Given the description of an element on the screen output the (x, y) to click on. 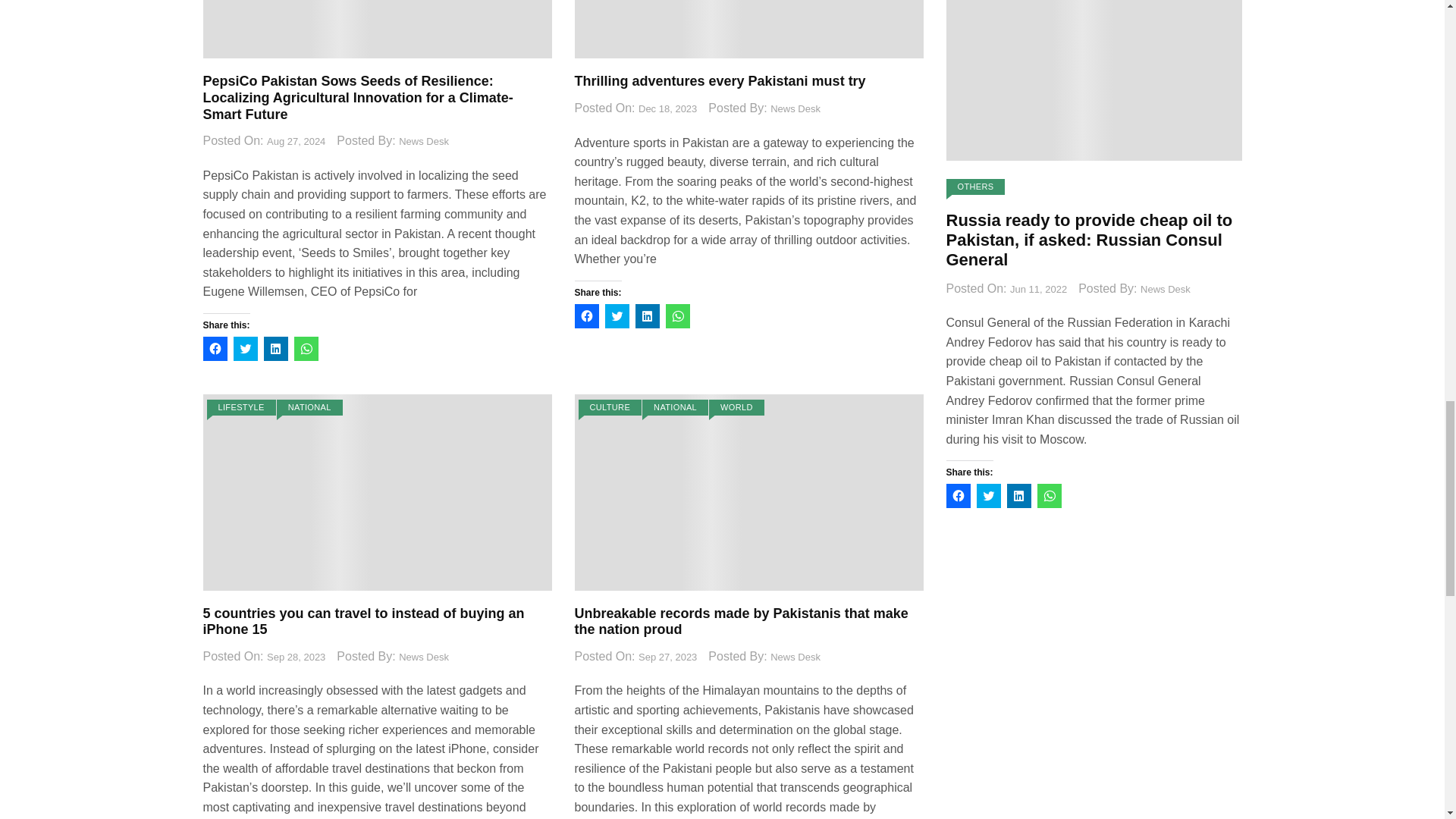
Click to share on Facebook (215, 348)
Click to share on Twitter (244, 348)
Click to share on LinkedIn (275, 348)
